Given the description of an element on the screen output the (x, y) to click on. 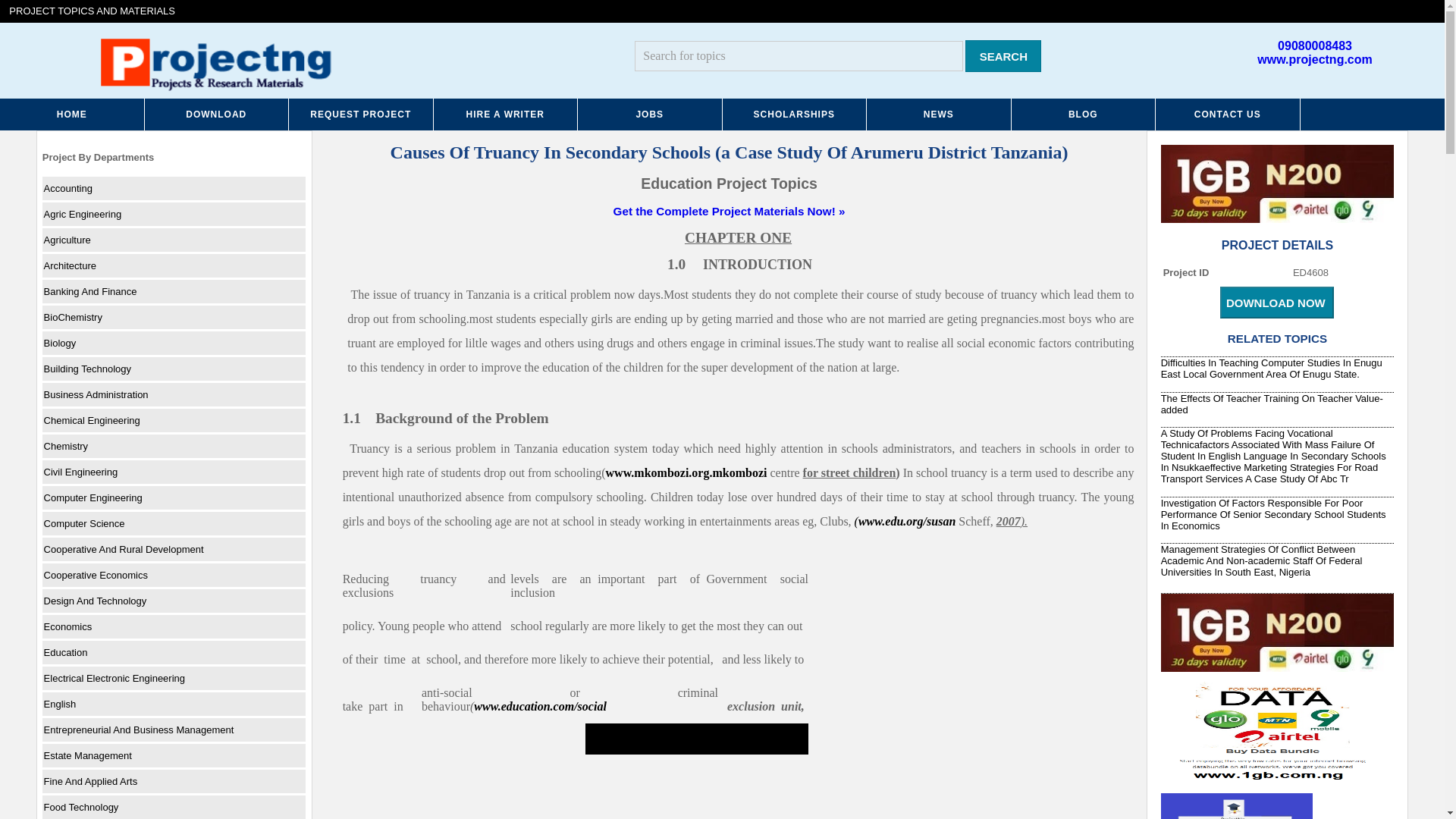
HOME (72, 114)
www.projectng.com (1314, 59)
CONTACT US (1228, 114)
Project Topics (72, 114)
Blog (1083, 114)
NEWS (938, 114)
HIRE A WRITER (505, 114)
Scholarship (794, 114)
Request Project (360, 114)
JOBS (650, 114)
SEARCH (1003, 56)
Contacts (1228, 114)
PROJECT TOPICS AND MATERIALS (92, 10)
Download Now  (1276, 302)
Download Materials (216, 114)
